Given the description of an element on the screen output the (x, y) to click on. 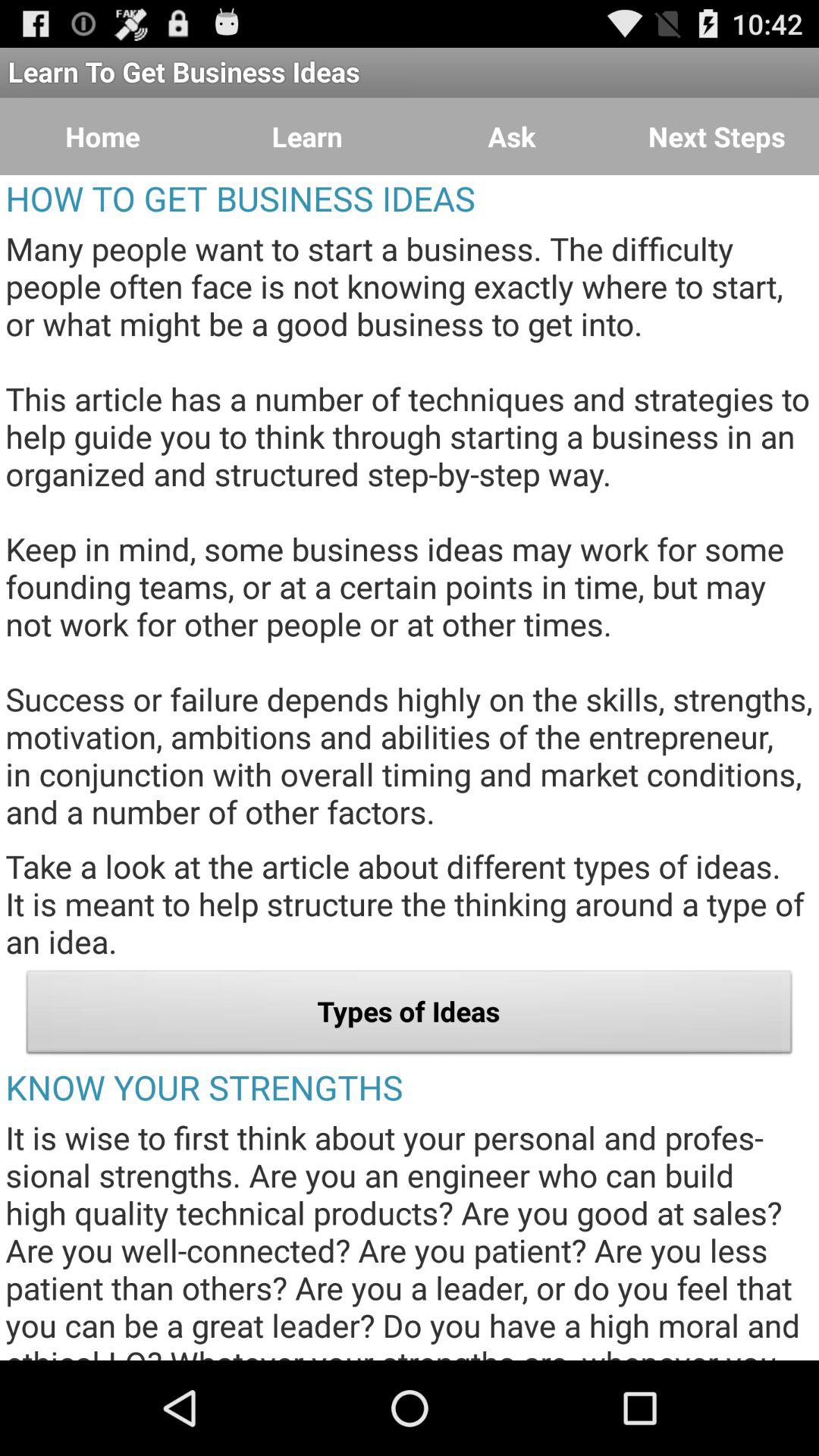
launch item next to ask (716, 136)
